Given the description of an element on the screen output the (x, y) to click on. 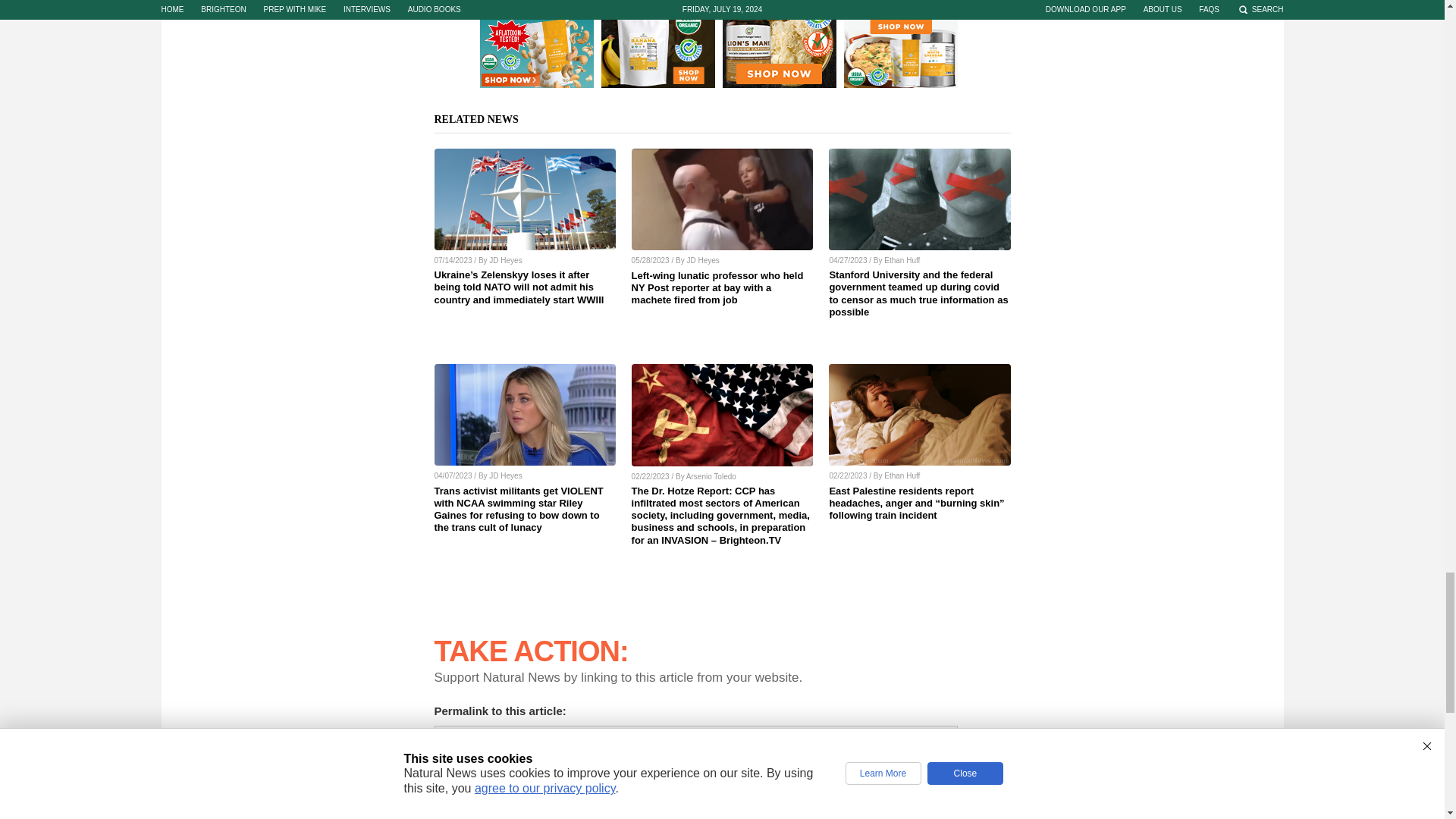
Copy Embed Link (986, 800)
Copy Permalink (986, 738)
